Given the description of an element on the screen output the (x, y) to click on. 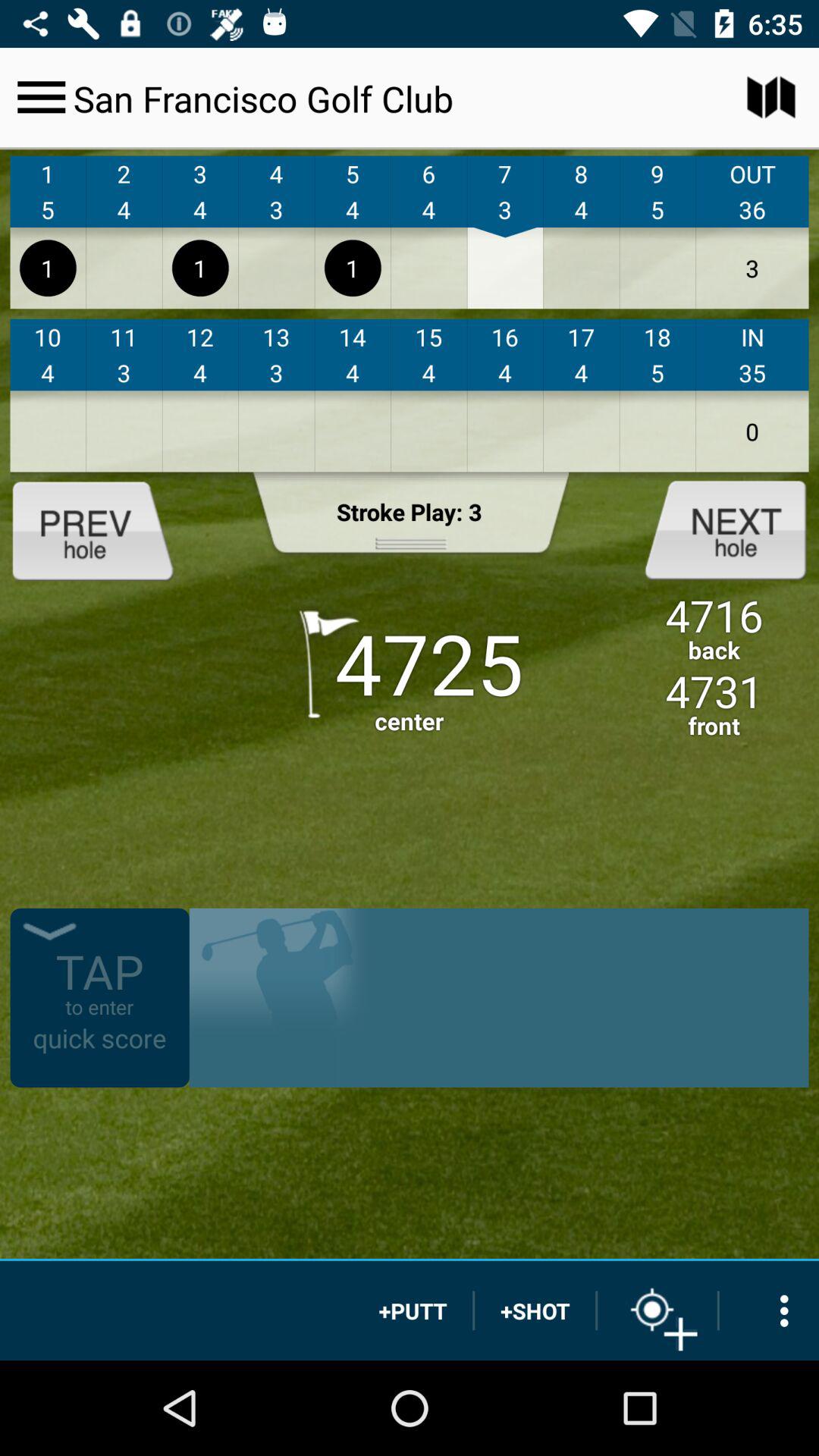
more options (769, 1310)
